Given the description of an element on the screen output the (x, y) to click on. 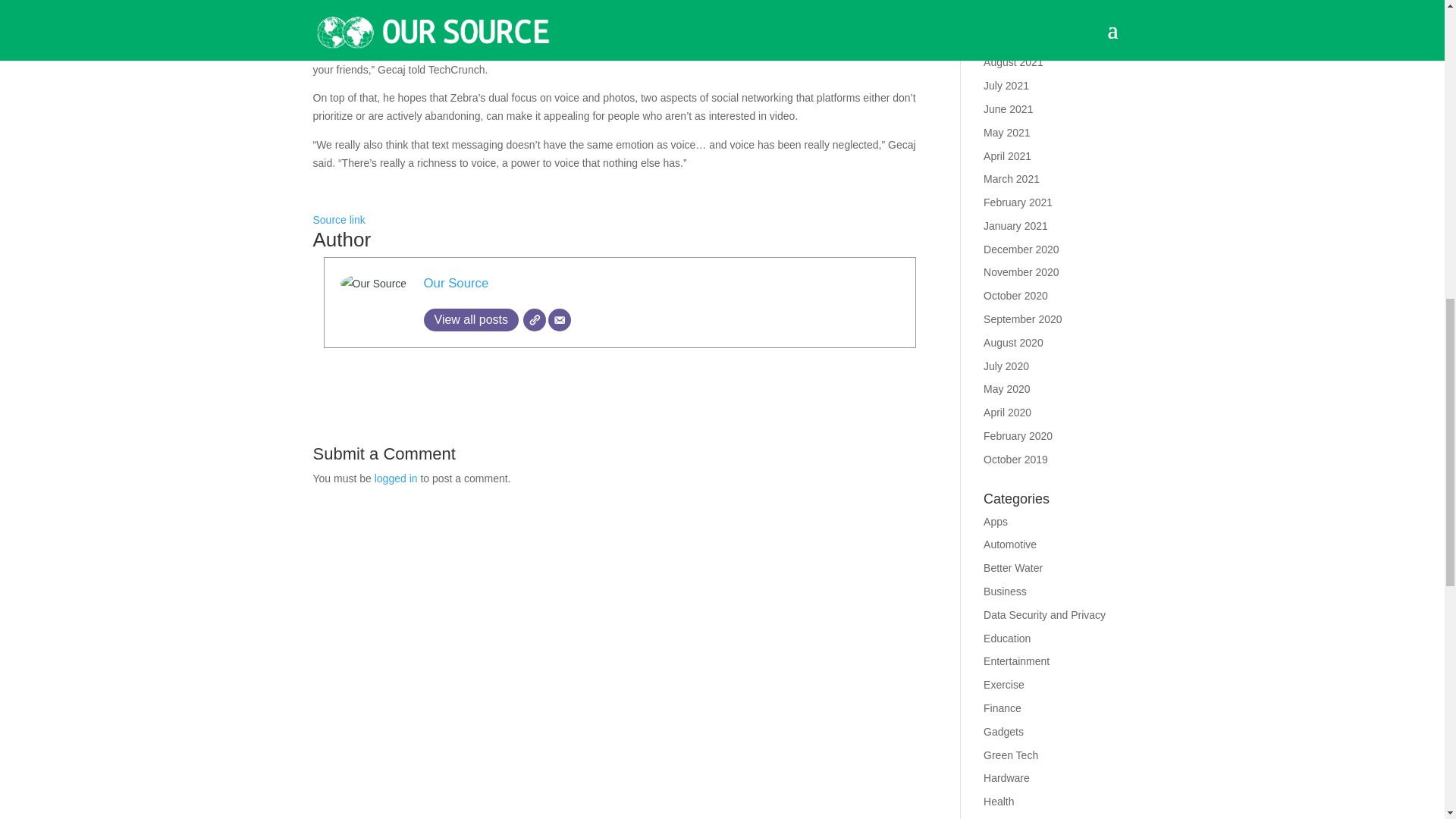
Source link (339, 219)
logged in (395, 478)
Our Source (455, 283)
View all posts (470, 319)
Our Source (455, 283)
View all posts (470, 319)
